Given the description of an element on the screen output the (x, y) to click on. 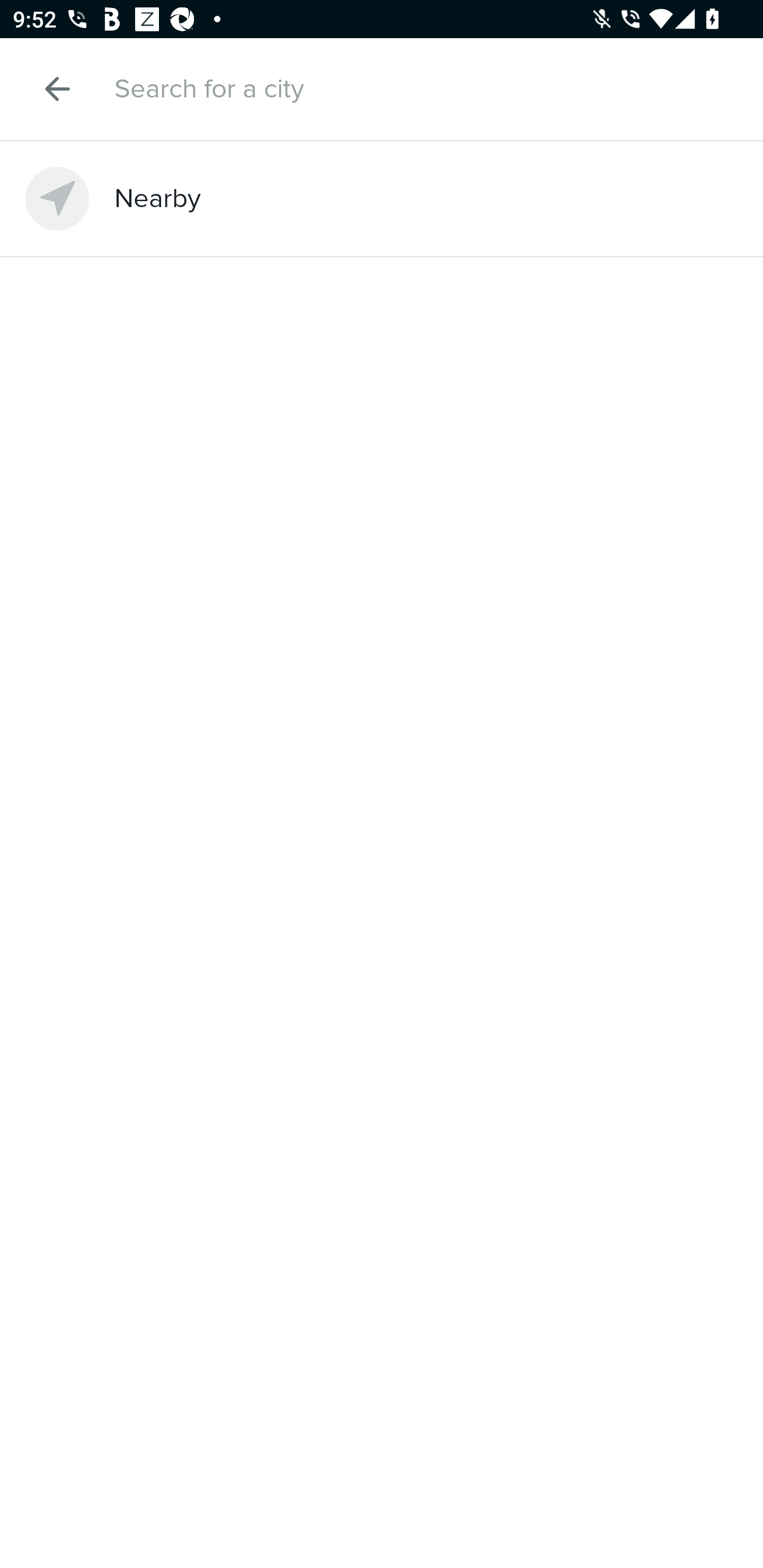
Search for a city (422, 88)
Nearby (381, 198)
